Given the description of an element on the screen output the (x, y) to click on. 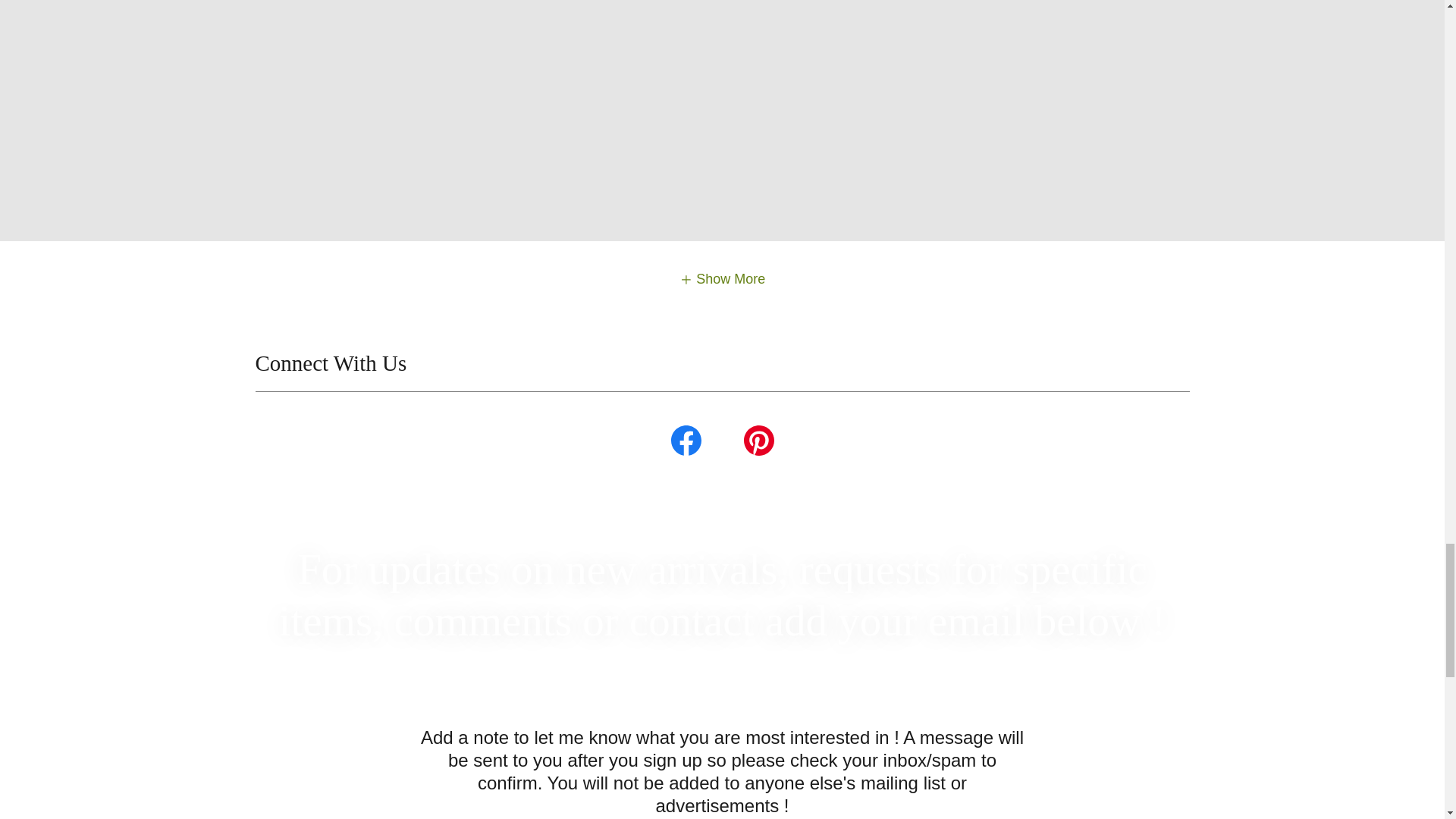
Show More (722, 279)
